Given the description of an element on the screen output the (x, y) to click on. 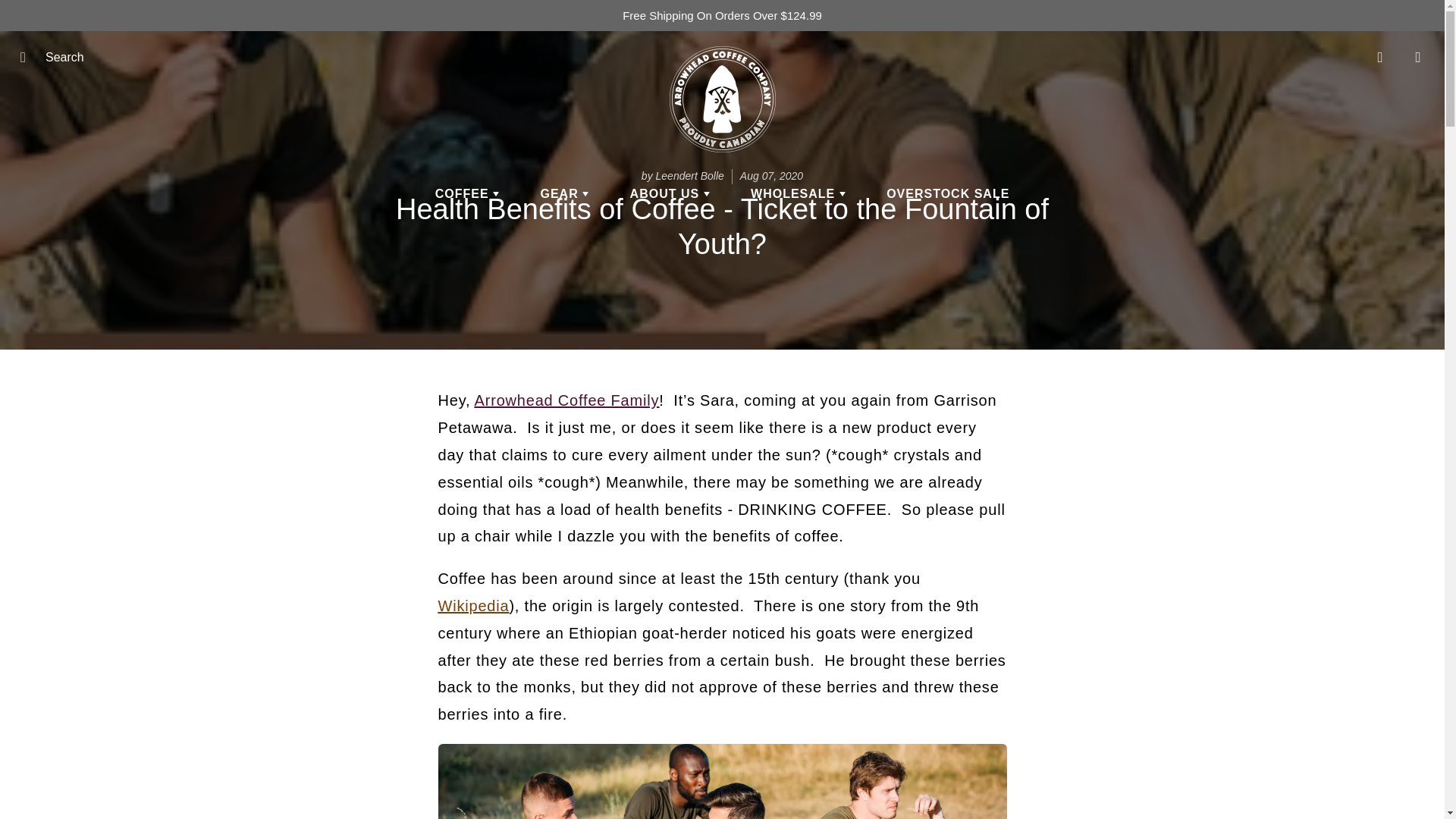
COFFEE (467, 193)
ABOUT US (670, 193)
My account (1379, 56)
You have 0 items in your cart (1417, 56)
GEAR (564, 193)
History of Coffee - Arrowhead Coffee Company (473, 605)
Arrowhead Coffee Family (566, 400)
Search (28, 56)
